Given the description of an element on the screen output the (x, y) to click on. 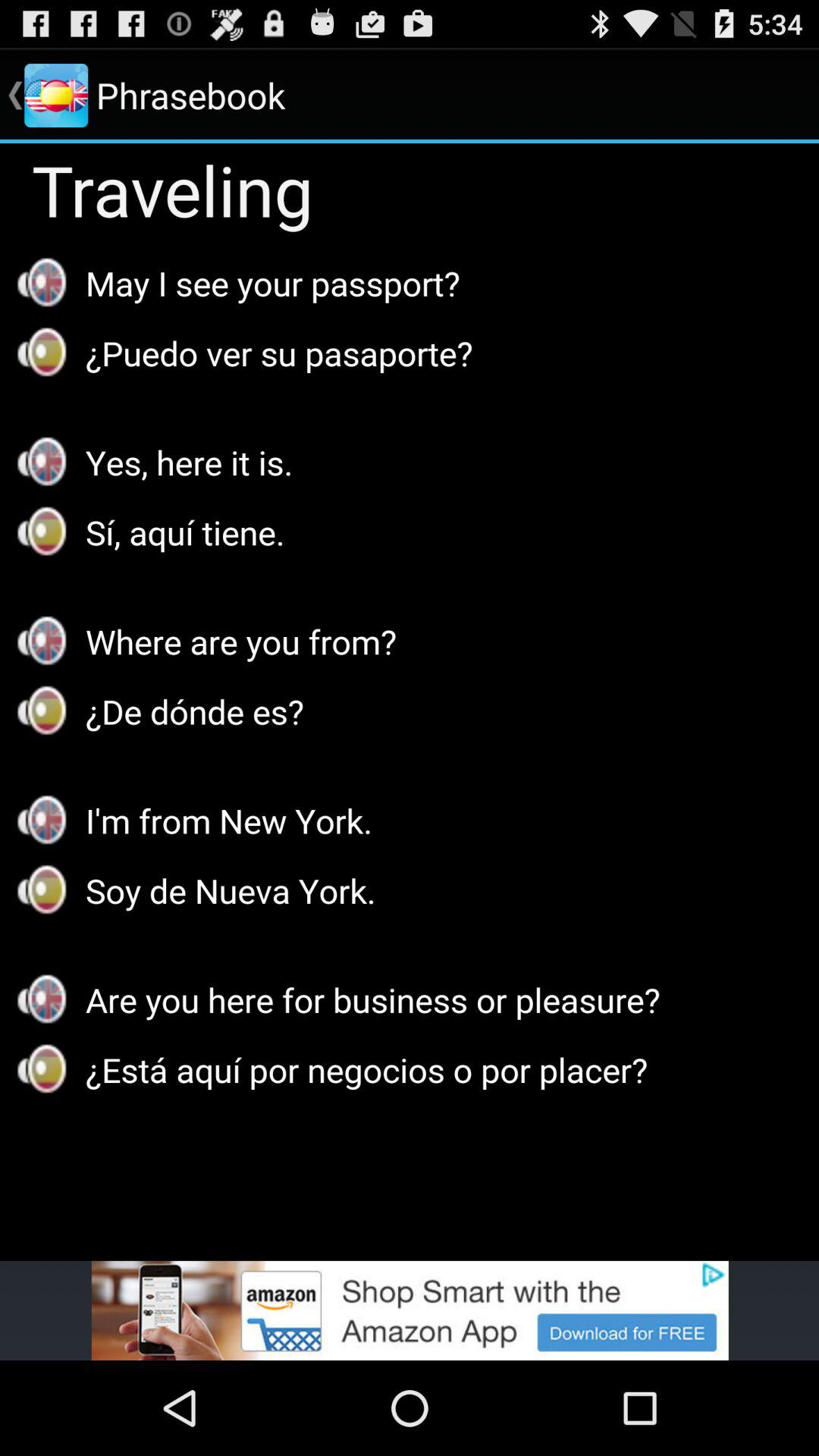
advertisement bar (409, 1310)
